Given the description of an element on the screen output the (x, y) to click on. 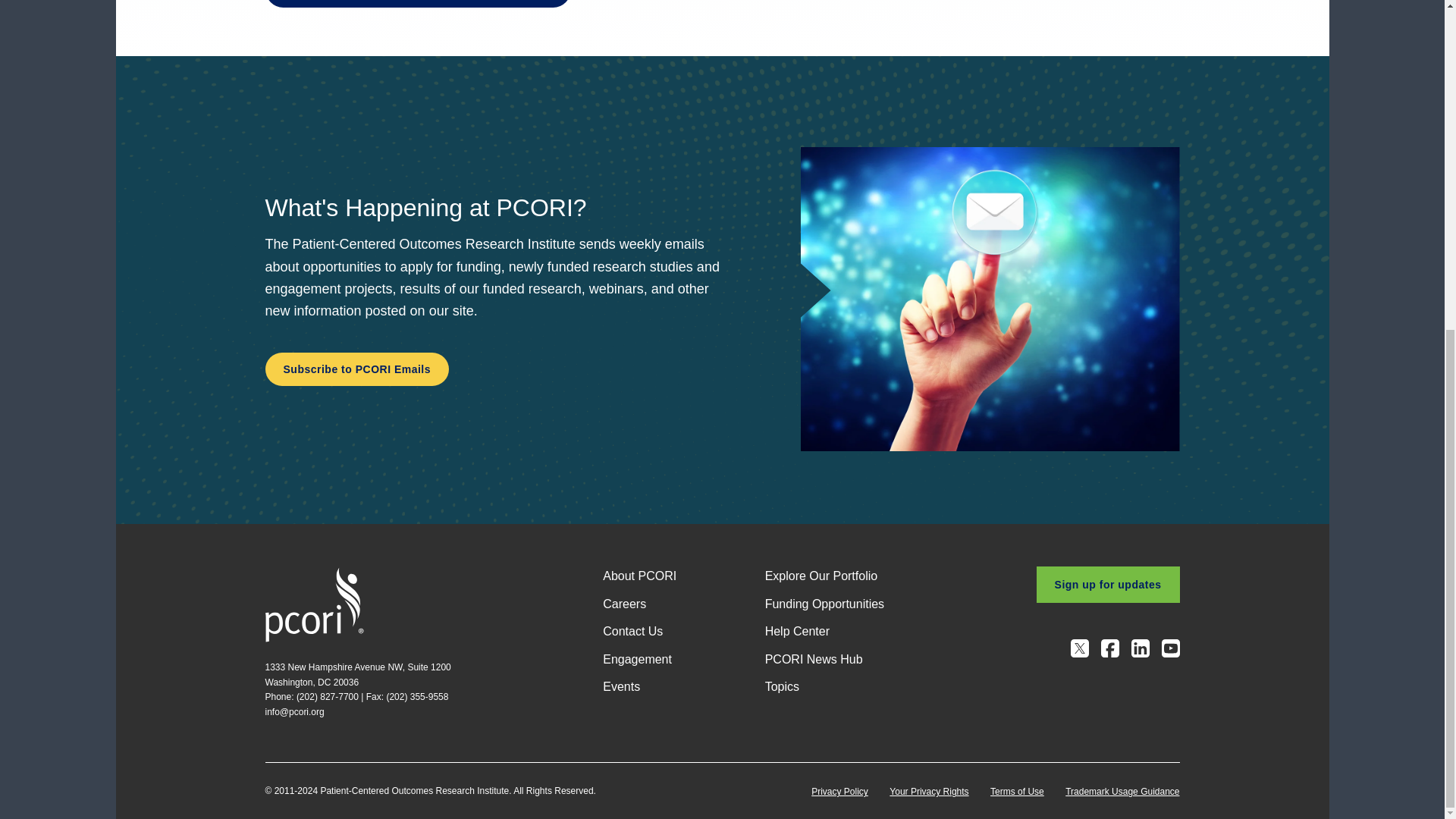
Home (314, 604)
